Given the description of an element on the screen output the (x, y) to click on. 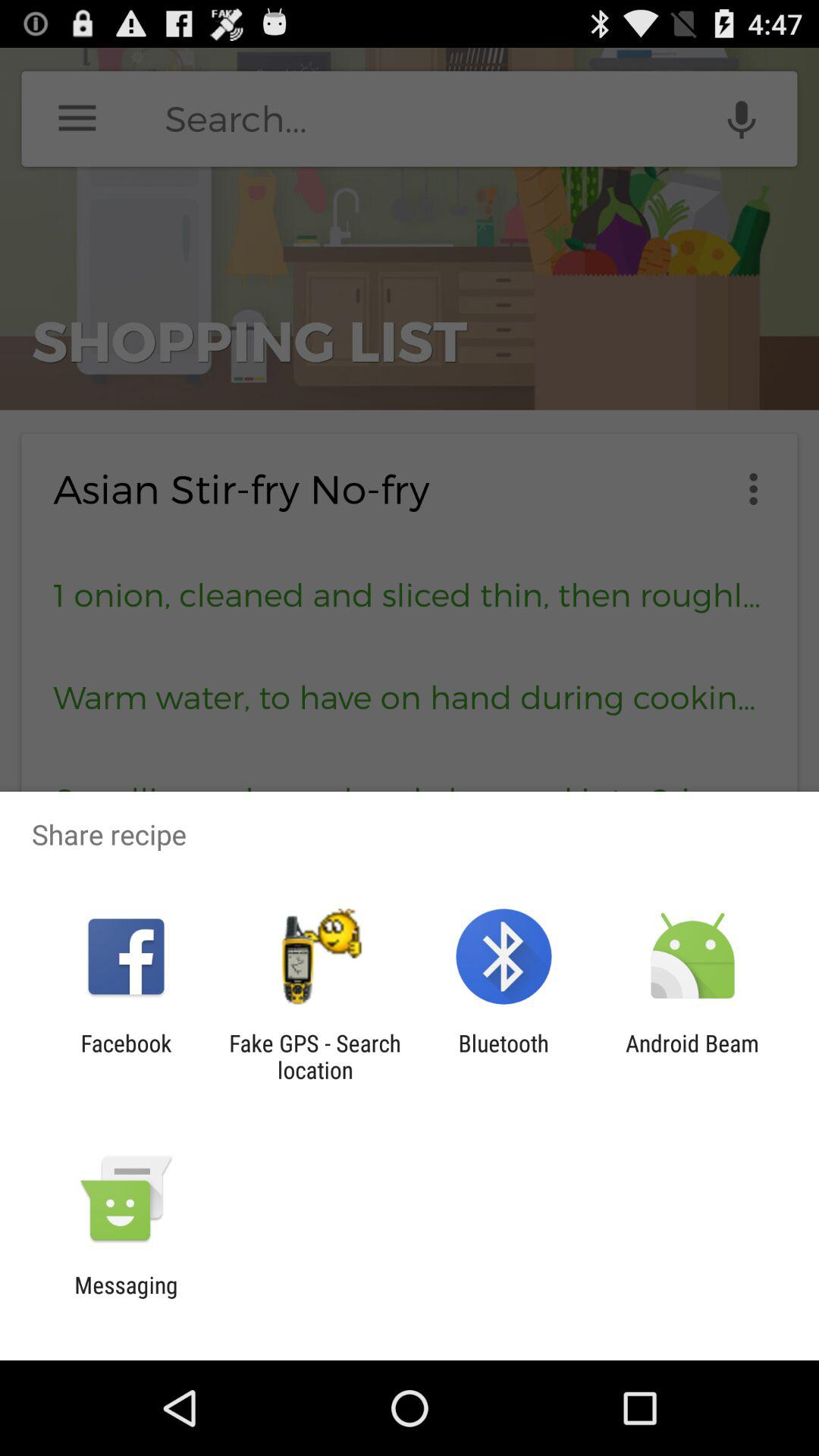
select the icon to the left of the bluetooth (314, 1056)
